Given the description of an element on the screen output the (x, y) to click on. 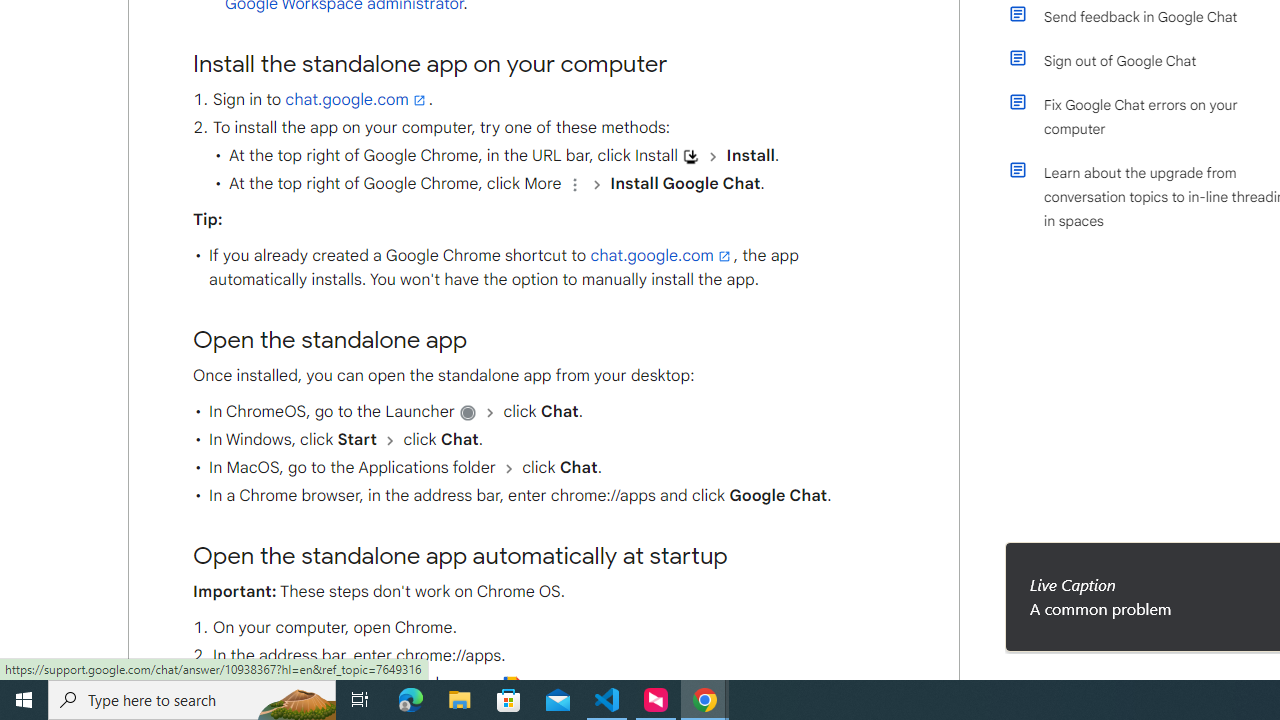
chat.google.com (661, 255)
and then (509, 468)
